Given the description of an element on the screen output the (x, y) to click on. 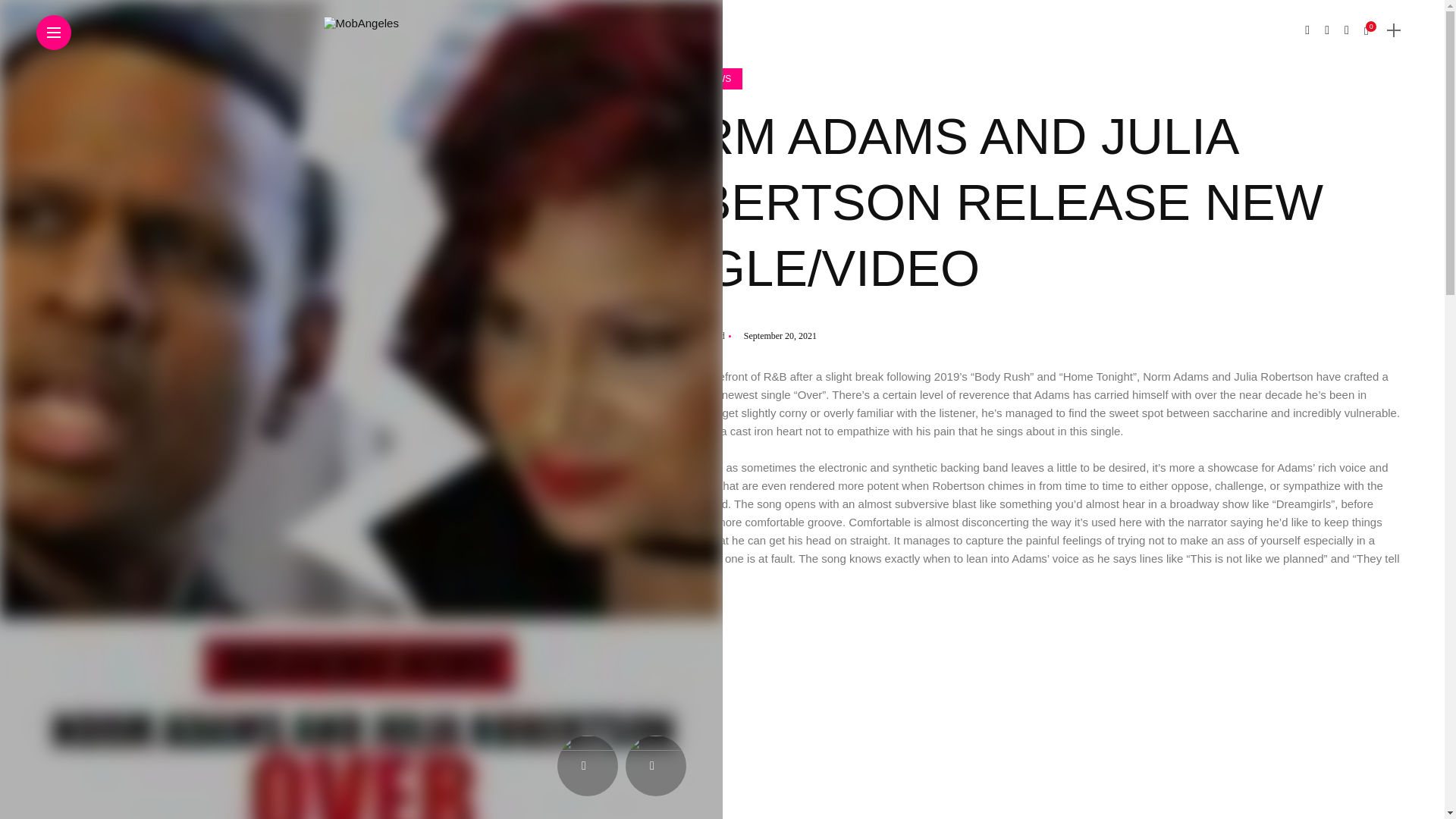
Posts by Michael Rand (695, 335)
